Given the description of an element on the screen output the (x, y) to click on. 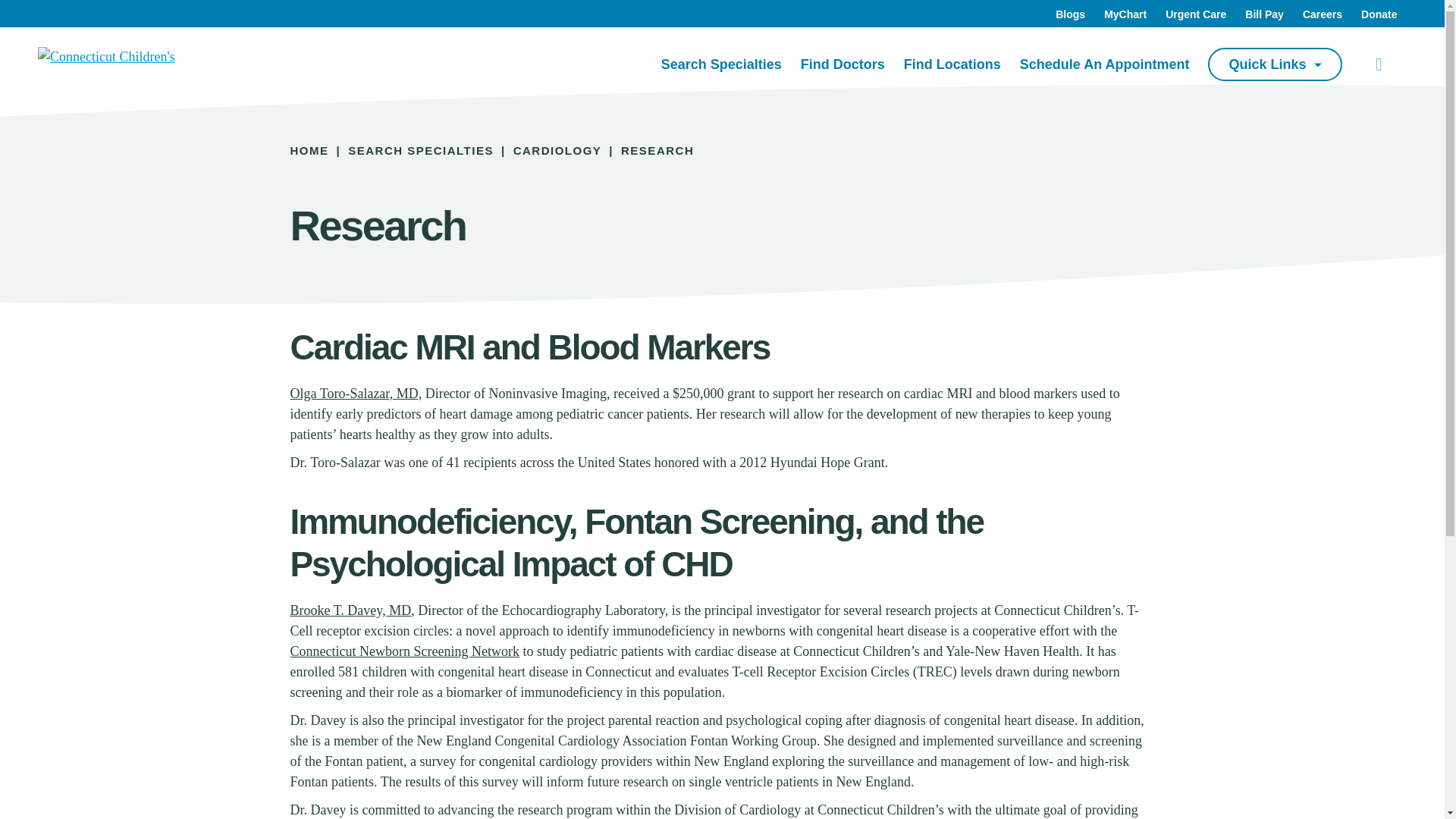
Olga Toro-Salazar, MD (353, 393)
Quick Links (1274, 64)
Connecticut Newborn Screening Network (403, 651)
Find Doctors (842, 64)
Schedule An Appointment (1104, 64)
Careers (1322, 15)
Blogs (1069, 15)
Connecticut Children's (107, 56)
Donate (1378, 15)
Bill Pay (1264, 15)
